Given the description of an element on the screen output the (x, y) to click on. 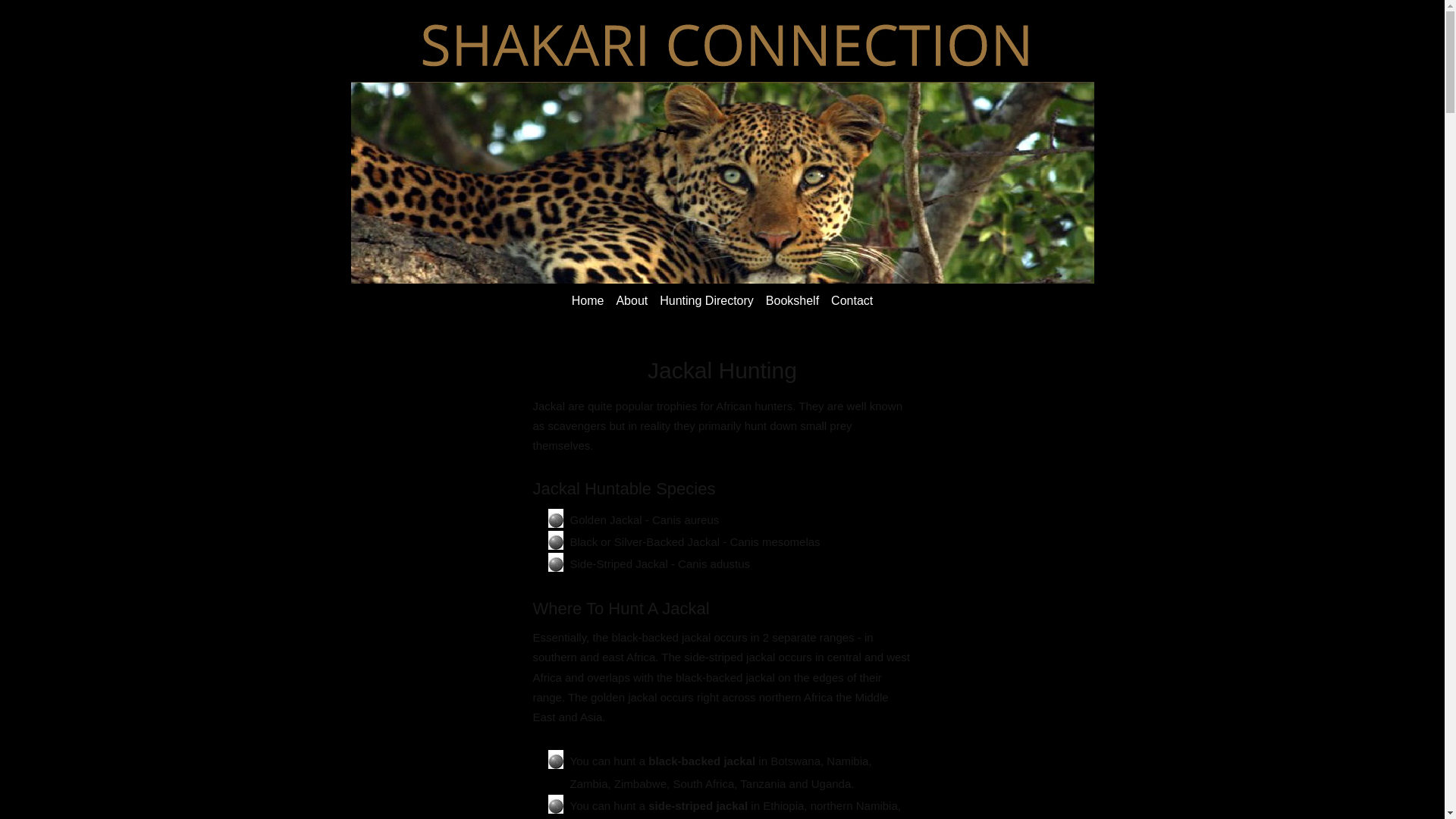
Contact (852, 300)
Hunting Directory (706, 300)
About (631, 300)
Bookshelf (792, 300)
Home (588, 300)
